Given the description of an element on the screen output the (x, y) to click on. 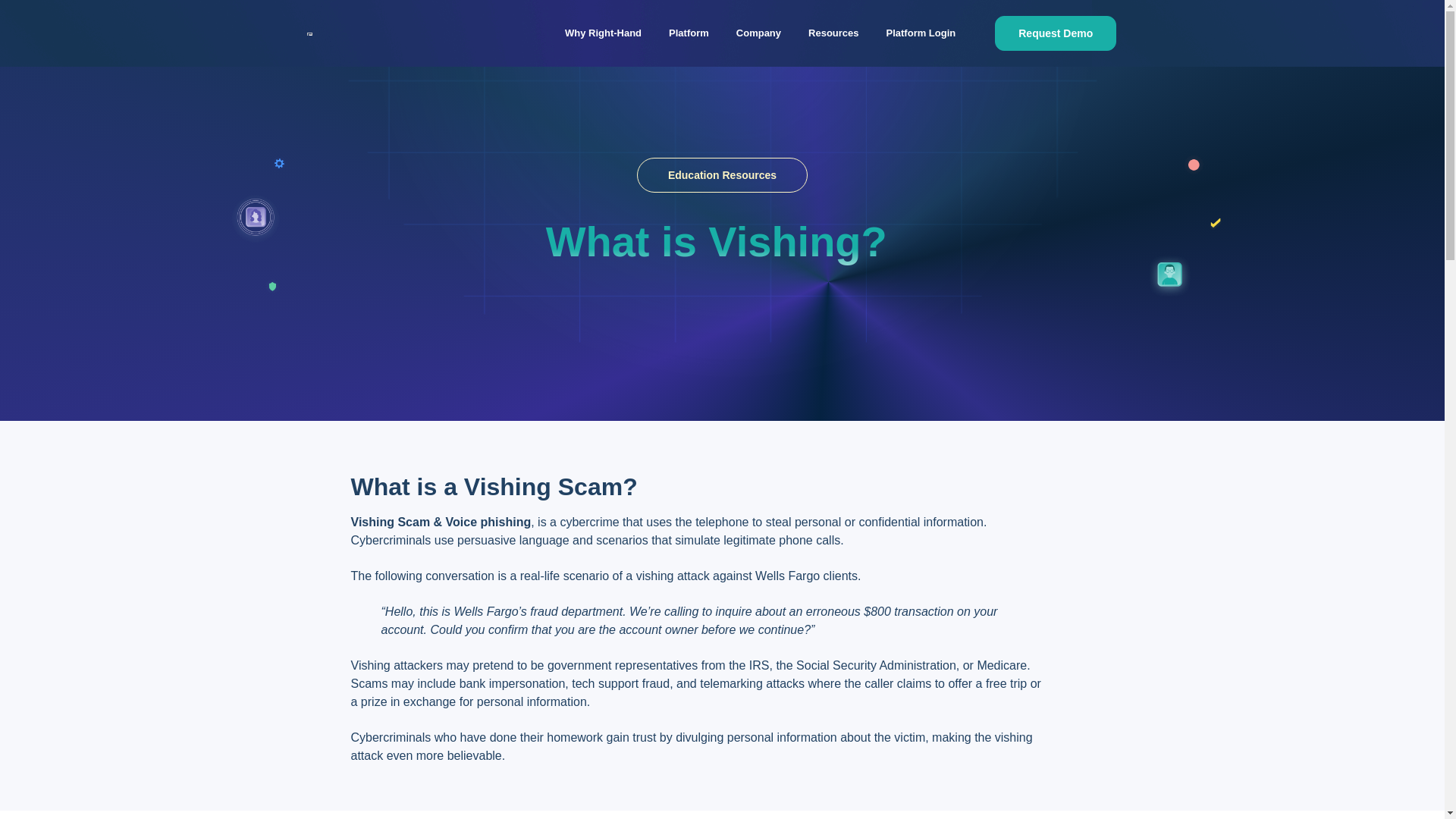
Platform Login (920, 32)
Resources (833, 32)
Company (758, 32)
Platform (688, 32)
Why Right-Hand (603, 32)
